Given the description of an element on the screen output the (x, y) to click on. 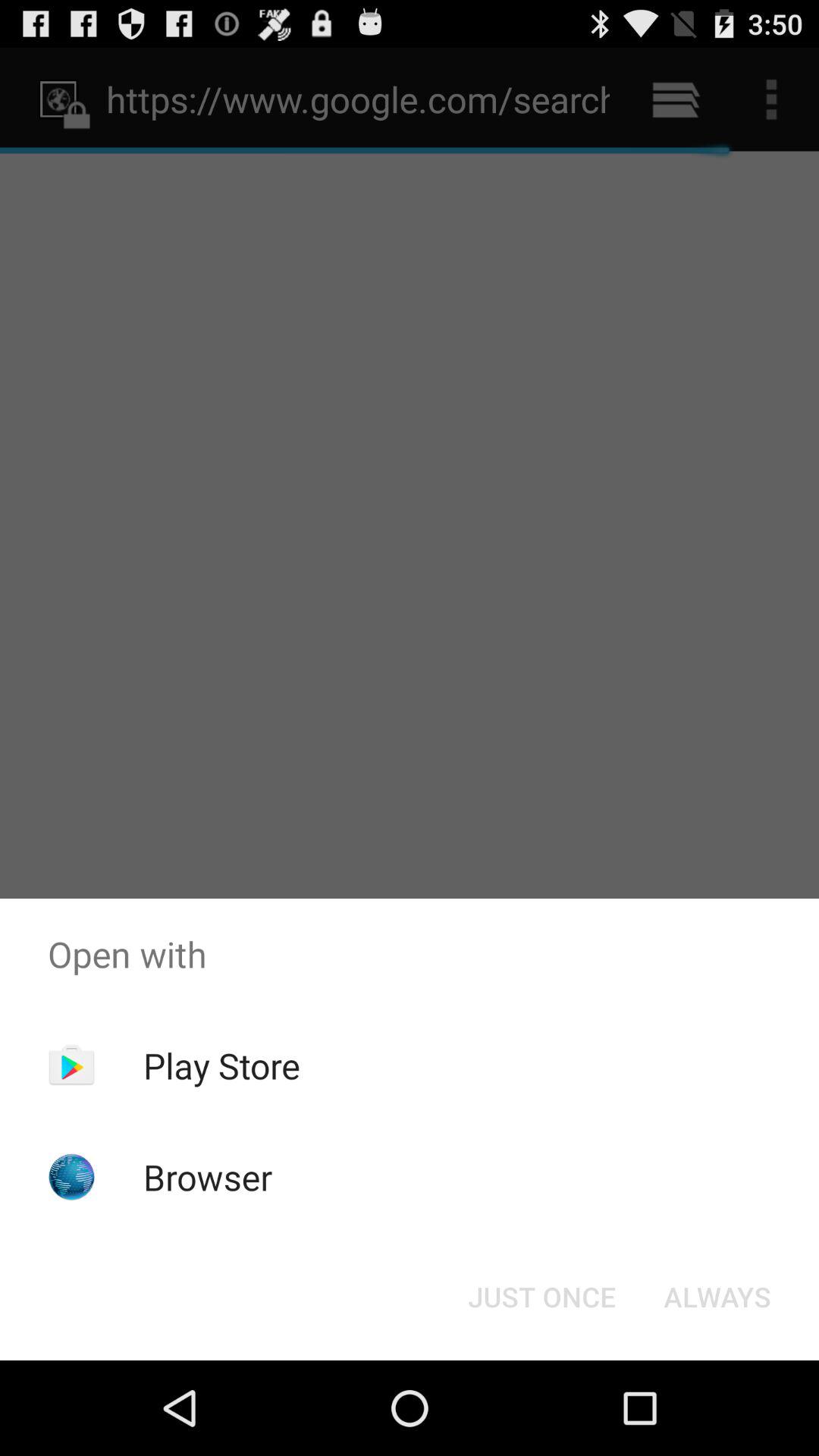
click browser app (207, 1176)
